Given the description of an element on the screen output the (x, y) to click on. 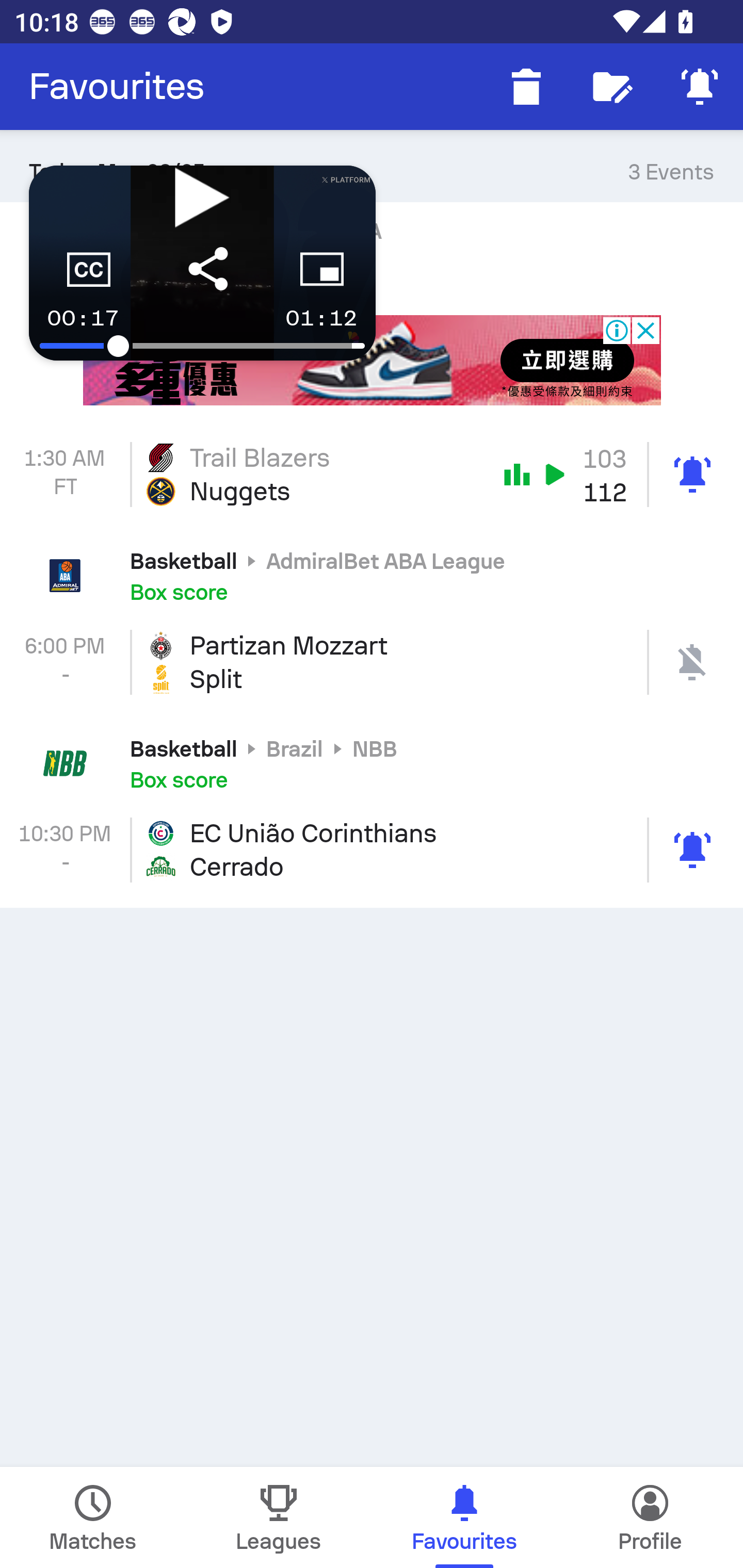
Favourites (116, 86)
Delete finished (525, 86)
Follow editor (612, 86)
Mute Notifications (699, 86)
1:30 AM FT Trail Blazers Nuggets 103 112 (371, 474)
Basketball AdmiralBet ABA League Box score (371, 575)
6:00 PM - Partizan Mozzart Split (371, 662)
Basketball Brazil NBB Box score (371, 762)
10:30 PM - EC União Corinthians Cerrado (371, 849)
Matches (92, 1517)
Leagues (278, 1517)
Profile (650, 1517)
